Given the description of an element on the screen output the (x, y) to click on. 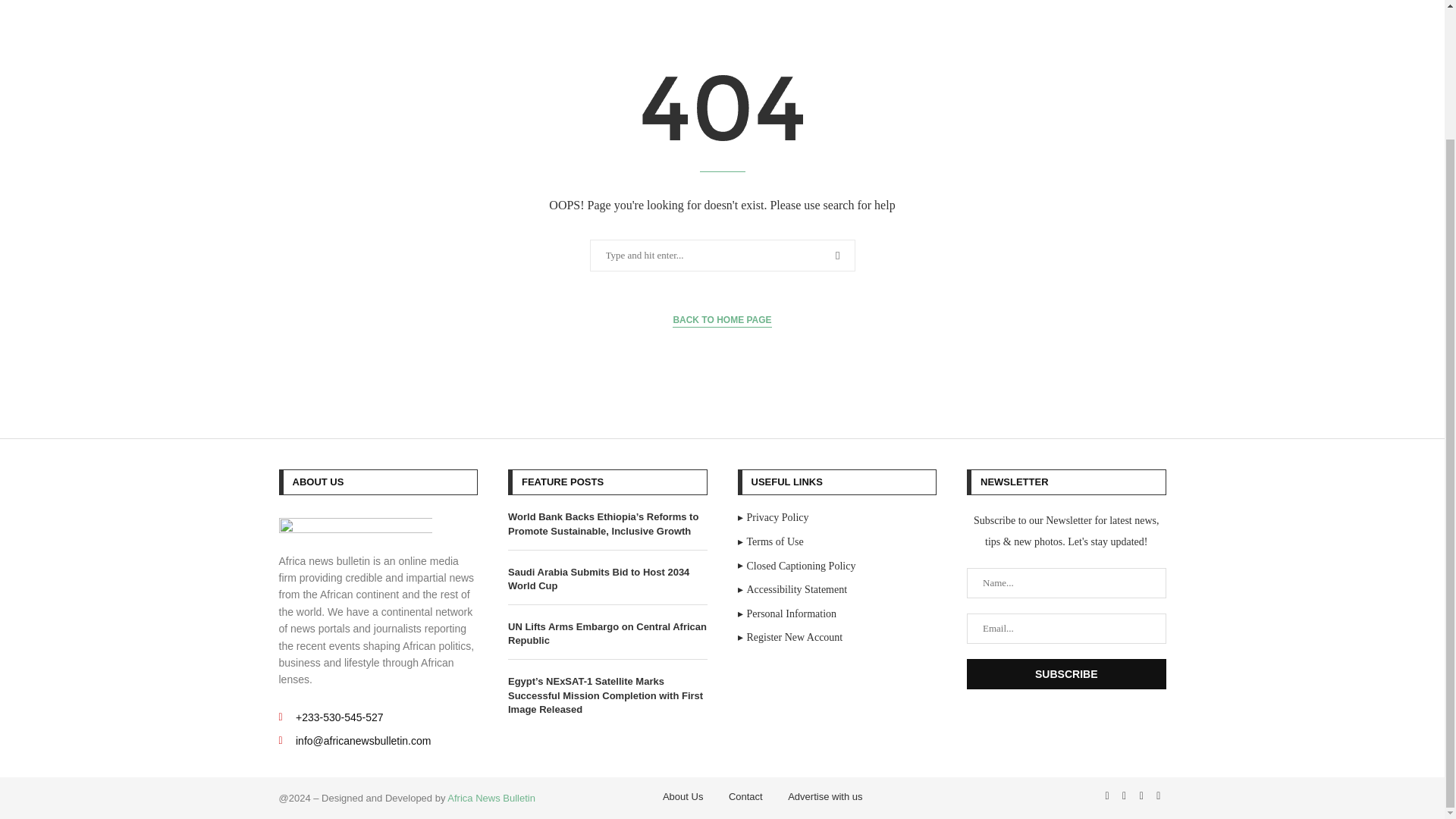
Subscribe (1066, 674)
